Given the description of an element on the screen output the (x, y) to click on. 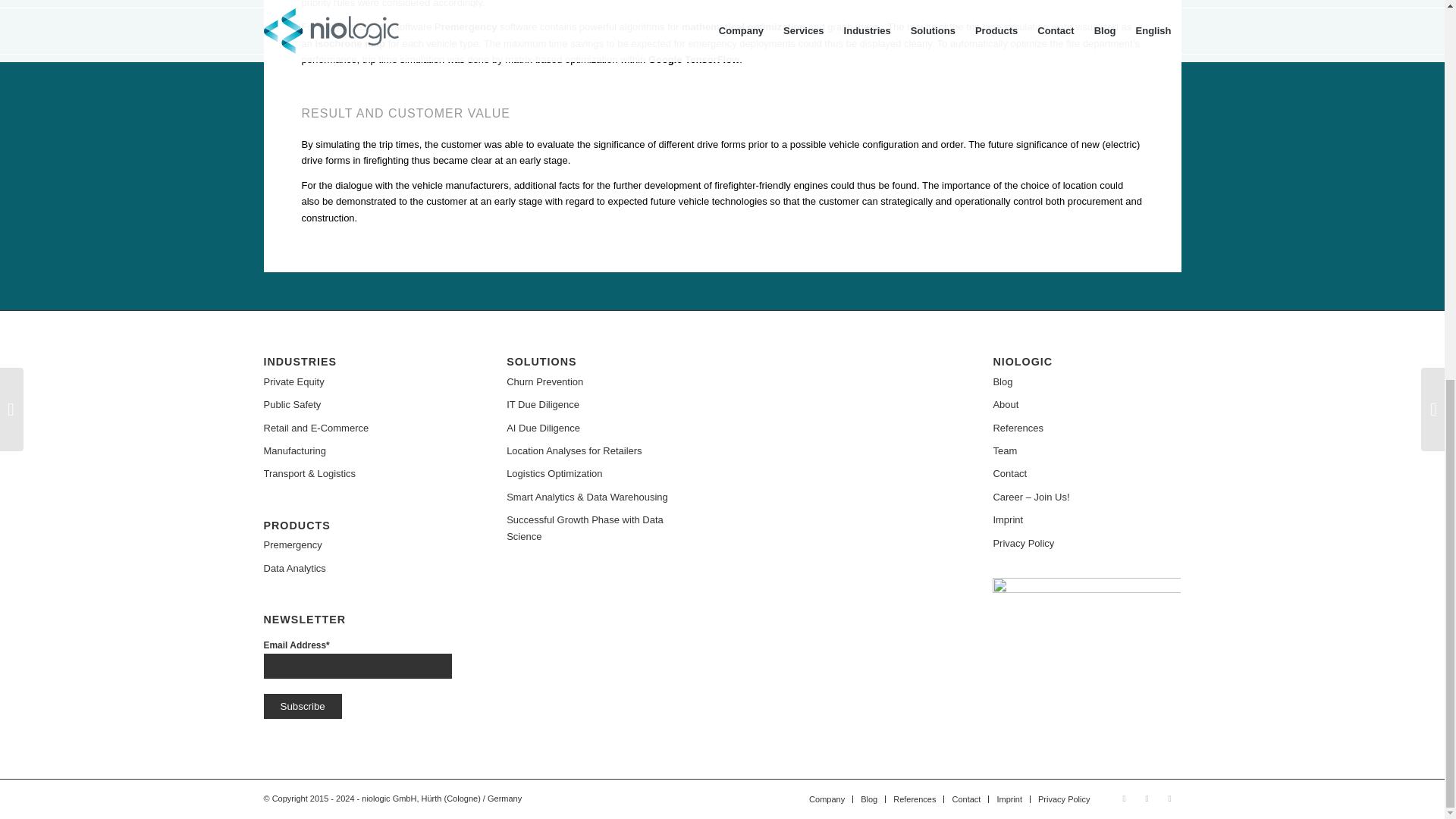
X (1124, 798)
Manufacturing (357, 450)
Subscribe (302, 706)
Xing (1146, 798)
LinkedIn (1169, 798)
